Given the description of an element on the screen output the (x, y) to click on. 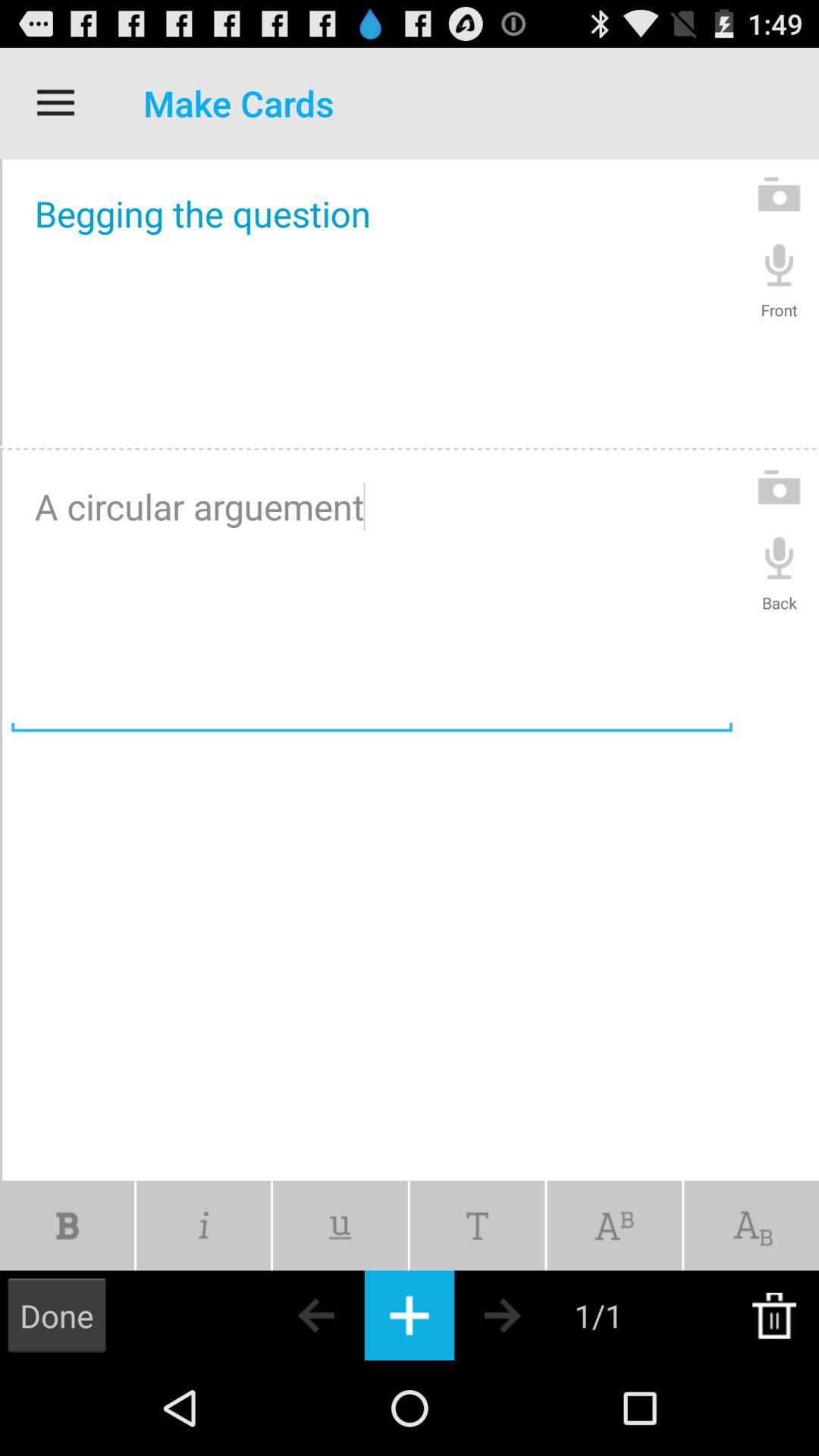
superscript text (614, 1225)
